Given the description of an element on the screen output the (x, y) to click on. 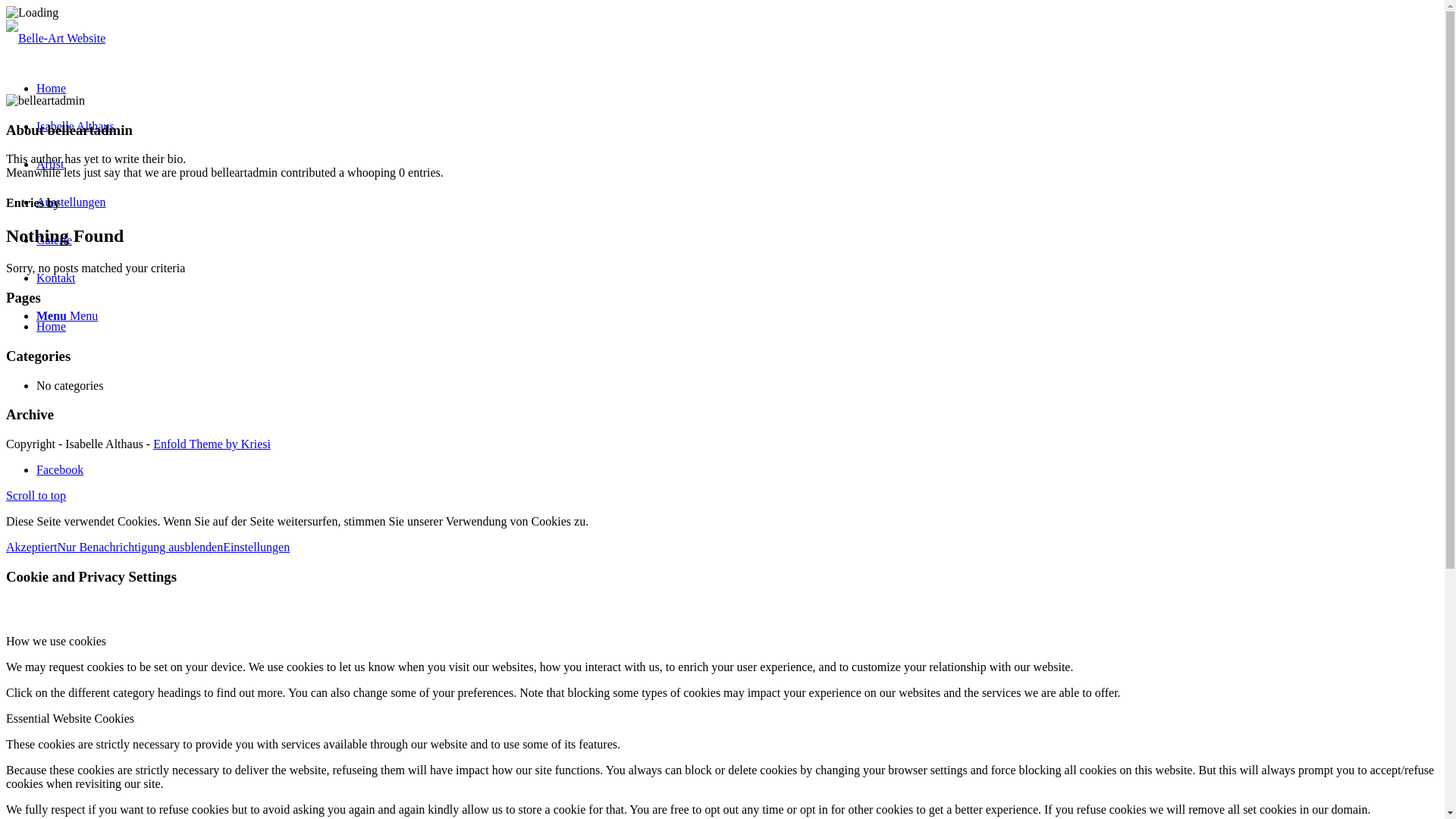
Home Element type: text (50, 87)
Home Element type: text (50, 326)
Einstellungen Element type: text (255, 546)
Facebook Element type: text (59, 469)
Artist Element type: text (49, 163)
Scroll to top Element type: text (35, 495)
Enfold Theme by Kriesi Element type: text (211, 443)
Nur Benachrichtigung ausblenden Element type: text (140, 546)
Isabelle Althaus Element type: text (75, 125)
Loading Element type: hover (32, 12)
Kontakt Element type: text (55, 277)
Ausstellungen Element type: text (71, 201)
Akzeptiert Element type: text (31, 546)
Galerie Element type: text (54, 239)
Menu Menu Element type: text (66, 315)
